Given the description of an element on the screen output the (x, y) to click on. 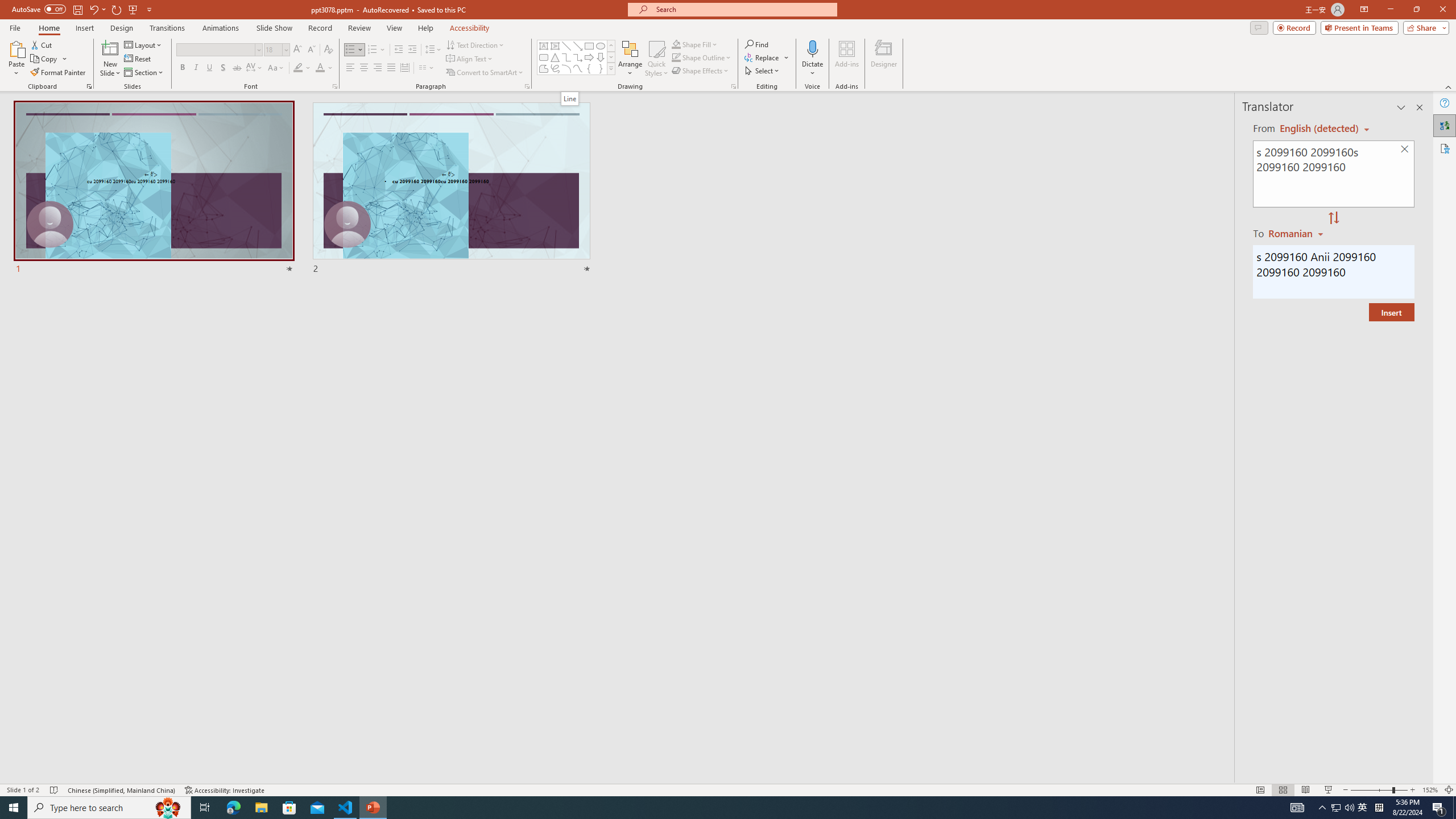
Clear text (1404, 149)
Format Painter (58, 72)
Justify (390, 67)
Section (144, 72)
Rectangle (589, 45)
Change Case (276, 67)
Quick Styles (656, 58)
Arrow: Down (600, 57)
